Given the description of an element on the screen output the (x, y) to click on. 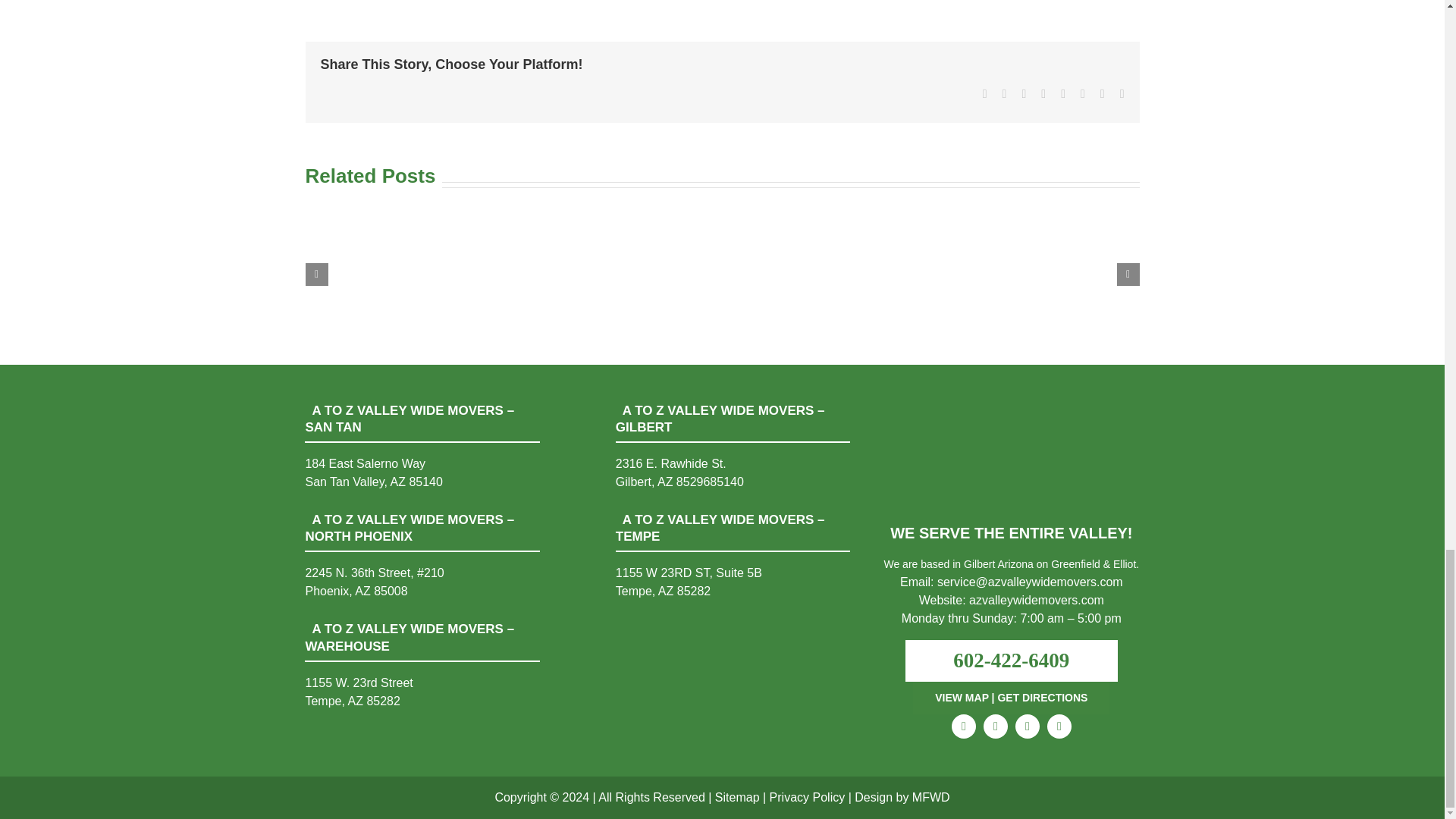
Facebook (963, 726)
Pinterest (1058, 726)
YouTube (1026, 726)
Twitter (995, 726)
